Given the description of an element on the screen output the (x, y) to click on. 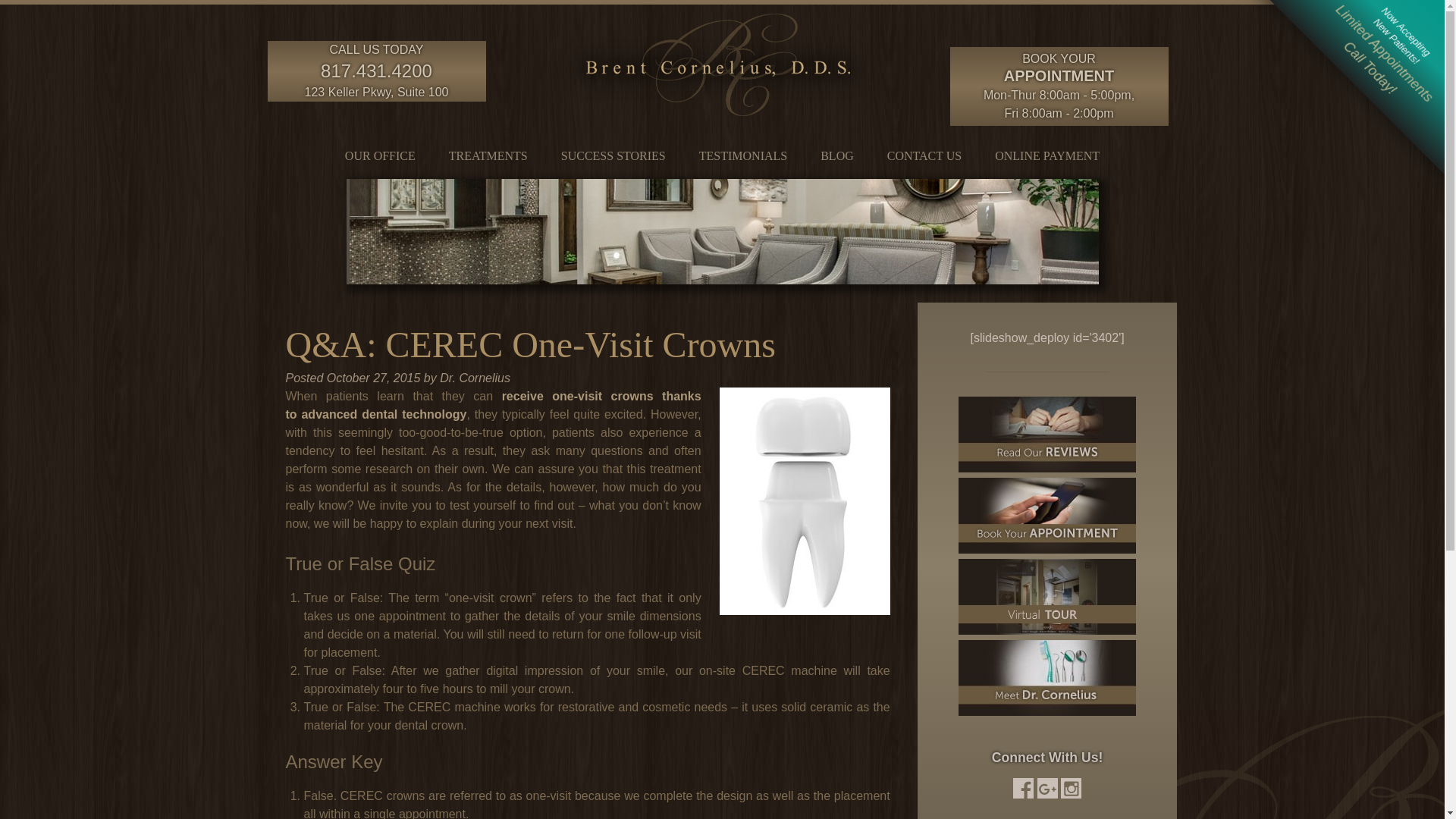
TREATMENTS (488, 152)
817.431.4200 (376, 70)
TESTIMONIALS (743, 152)
OUR OFFICE (380, 152)
SUCCESS STORIES (613, 152)
